Given the description of an element on the screen output the (x, y) to click on. 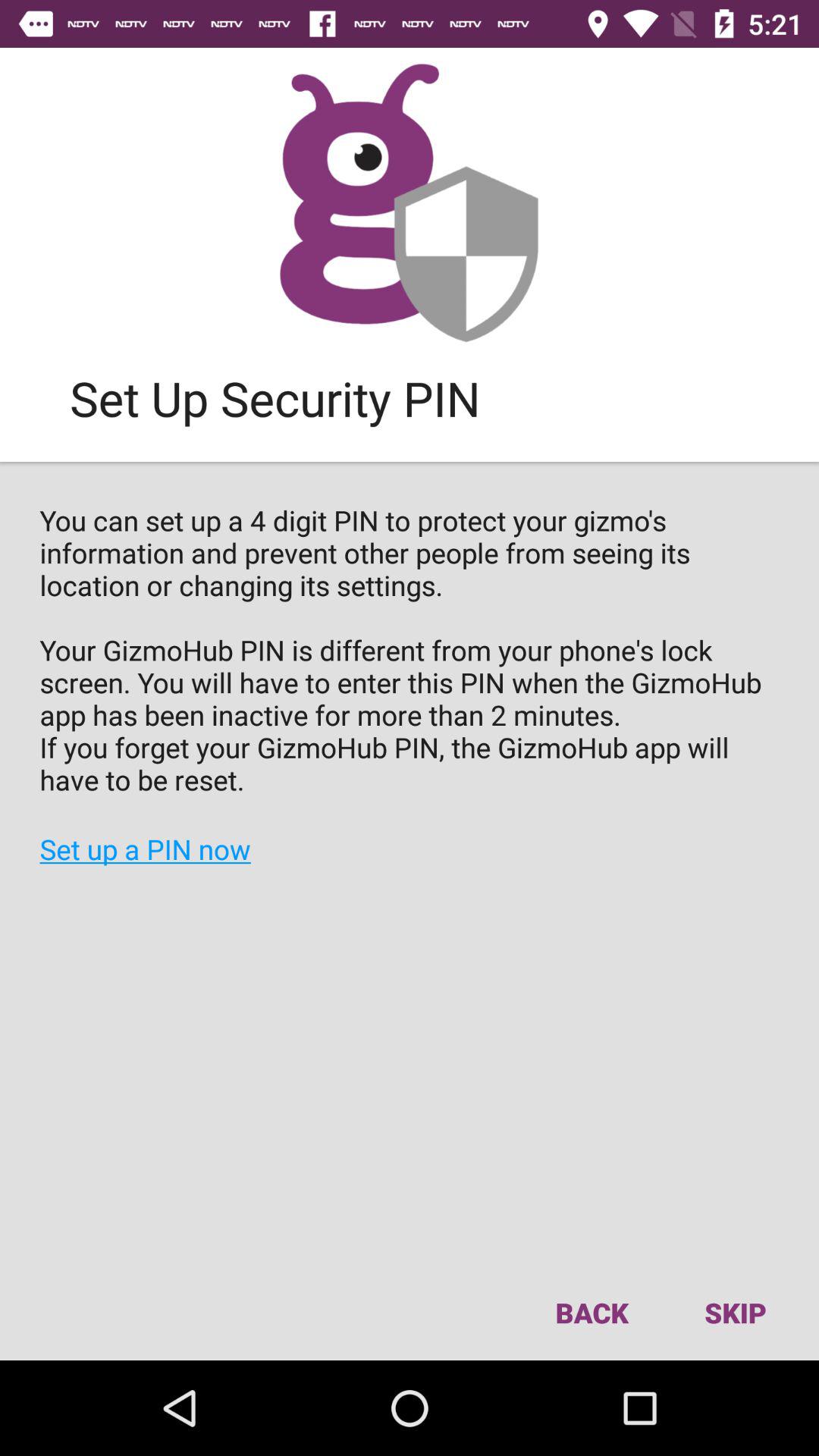
select item below you can set item (735, 1312)
